Given the description of an element on the screen output the (x, y) to click on. 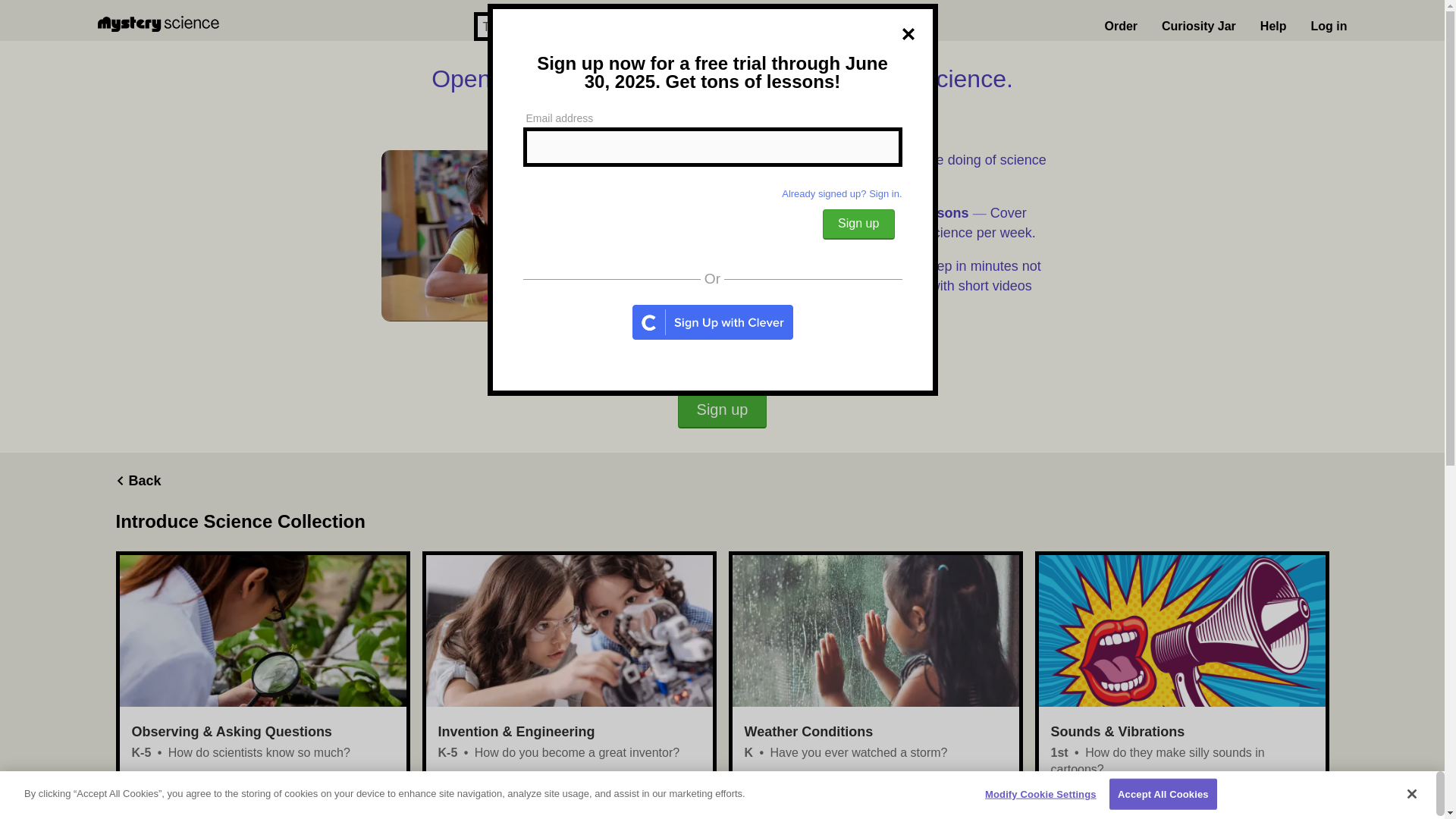
Order (1120, 26)
